Given the description of an element on the screen output the (x, y) to click on. 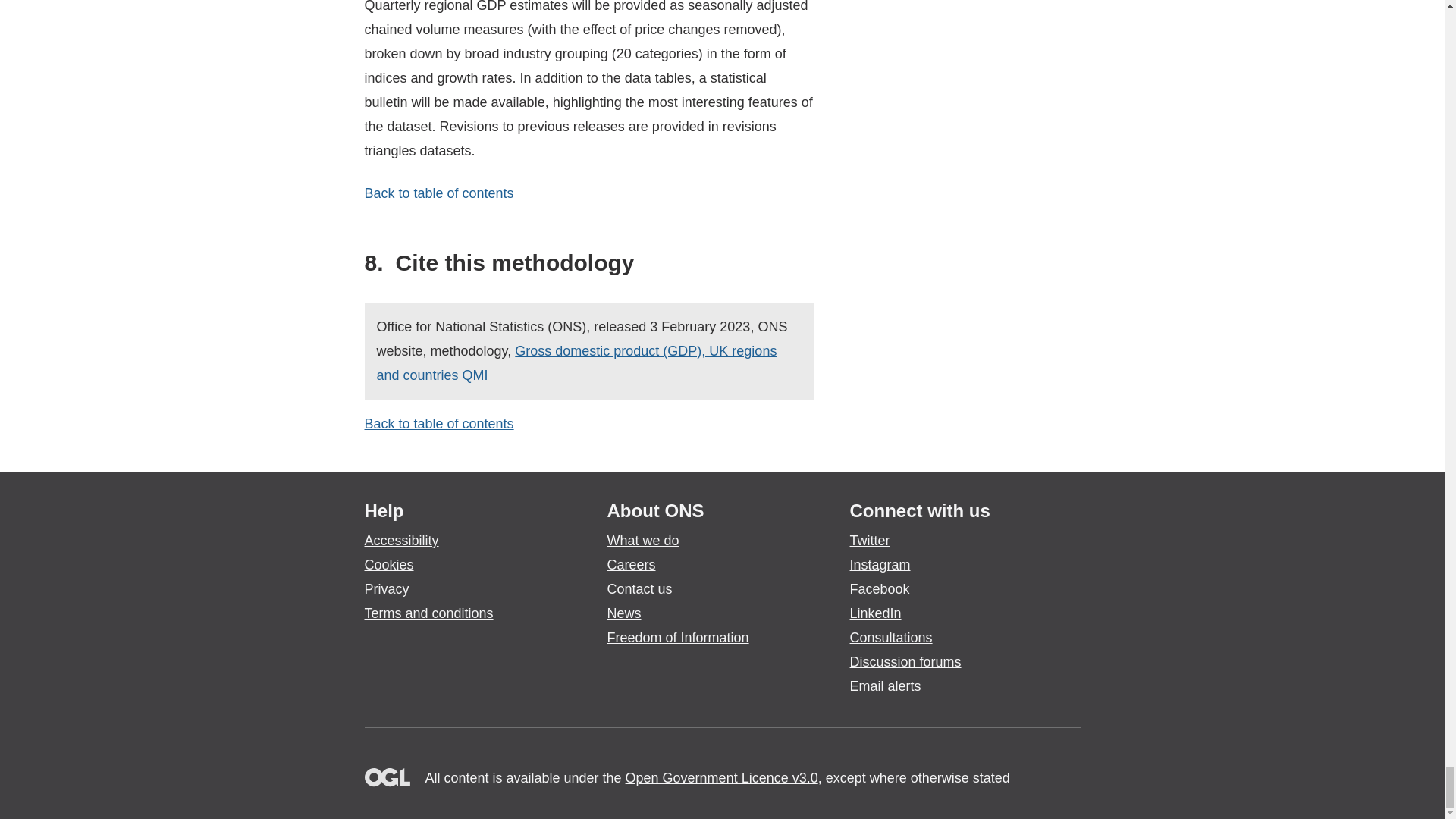
Back to table of contents (438, 423)
Back to table of contents (438, 192)
